Given the description of an element on the screen output the (x, y) to click on. 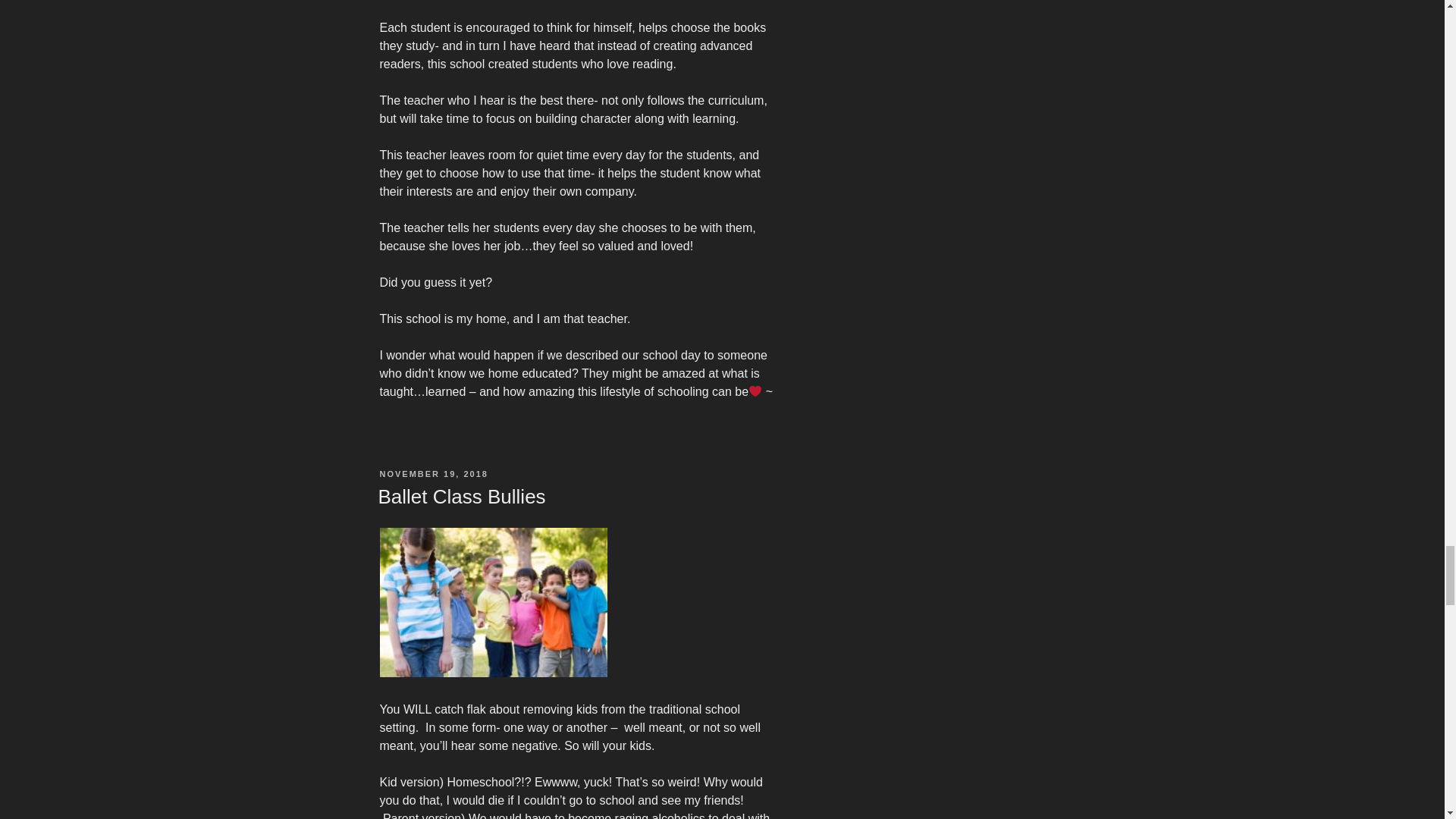
Ballet Class Bullies (460, 496)
NOVEMBER 19, 2018 (432, 473)
